Given the description of an element on the screen output the (x, y) to click on. 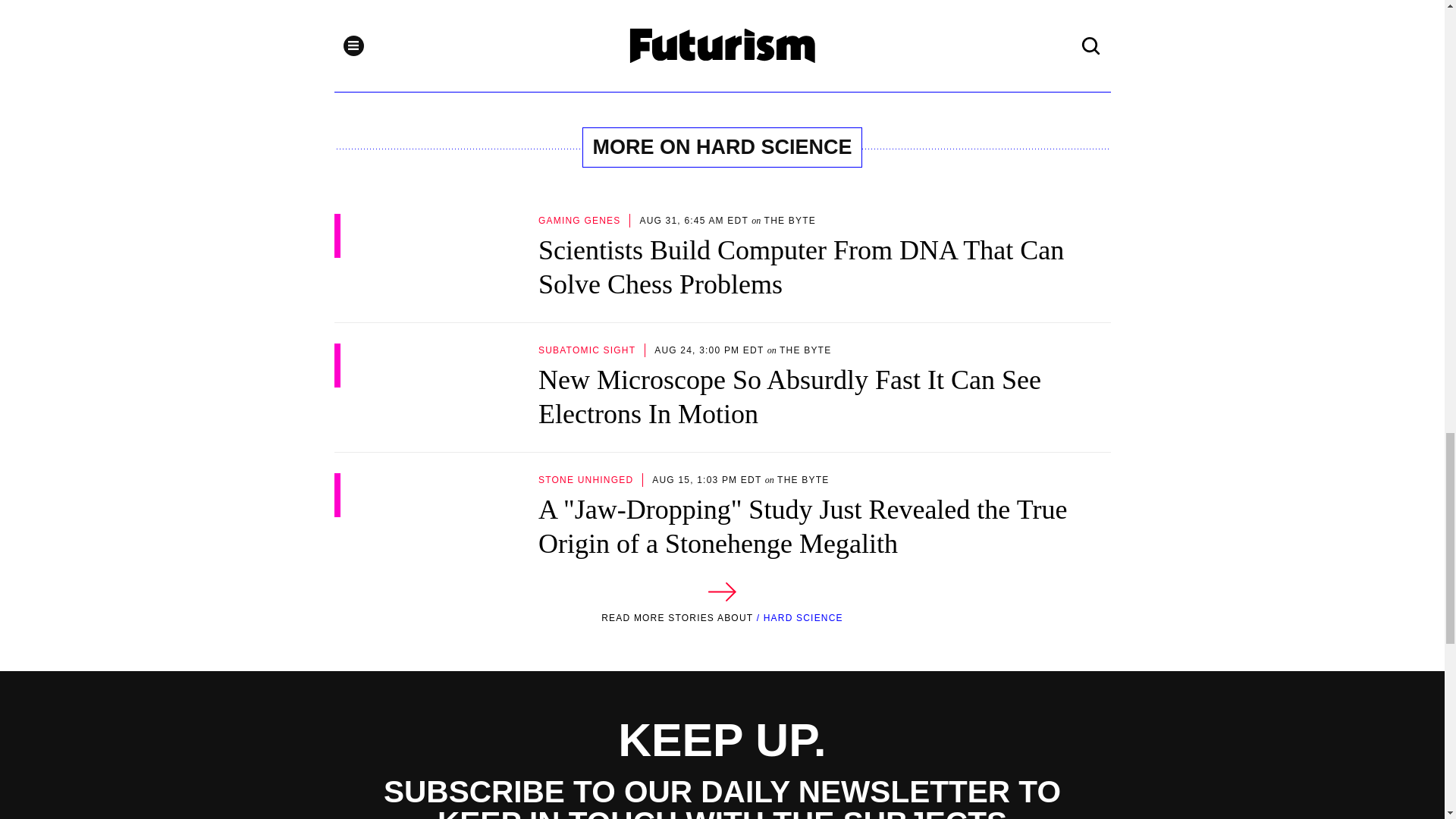
Copy Link (622, 15)
Share to Facebook (563, 15)
Tweet This (502, 15)
Share via Email (682, 15)
